Given the description of an element on the screen output the (x, y) to click on. 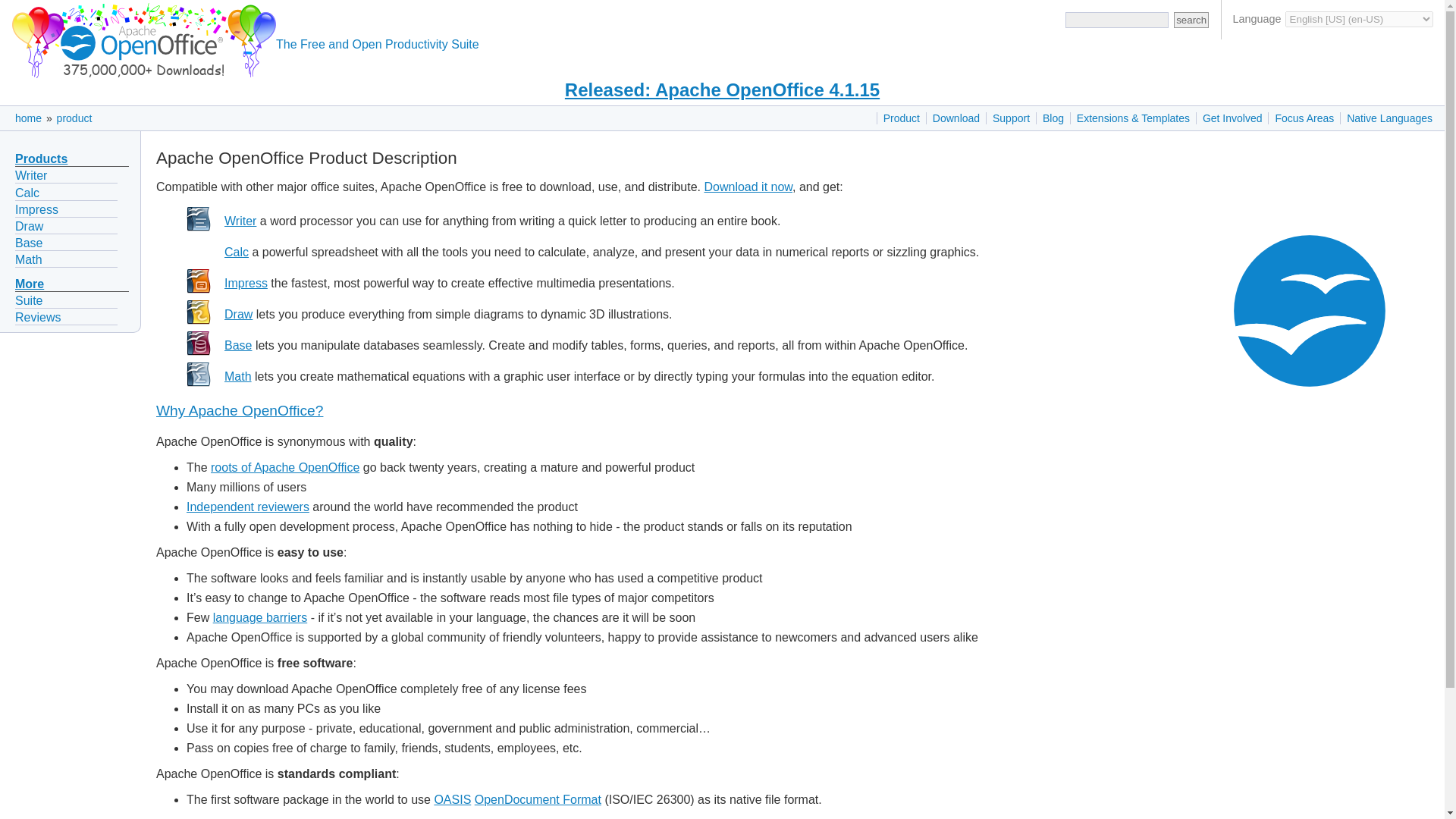
Products (40, 158)
Presentation program (245, 282)
Download it now (747, 186)
Find Support for OpenOffice (1010, 118)
product (74, 118)
Get involved in Apache OpenOffice (1232, 118)
Base (237, 345)
Apache OpenOffice in your Native Language (1389, 118)
Support (1010, 118)
Calc (26, 192)
home (28, 118)
Draw (237, 314)
search (1190, 19)
Native Languages (1389, 118)
search query (1117, 19)
